Given the description of an element on the screen output the (x, y) to click on. 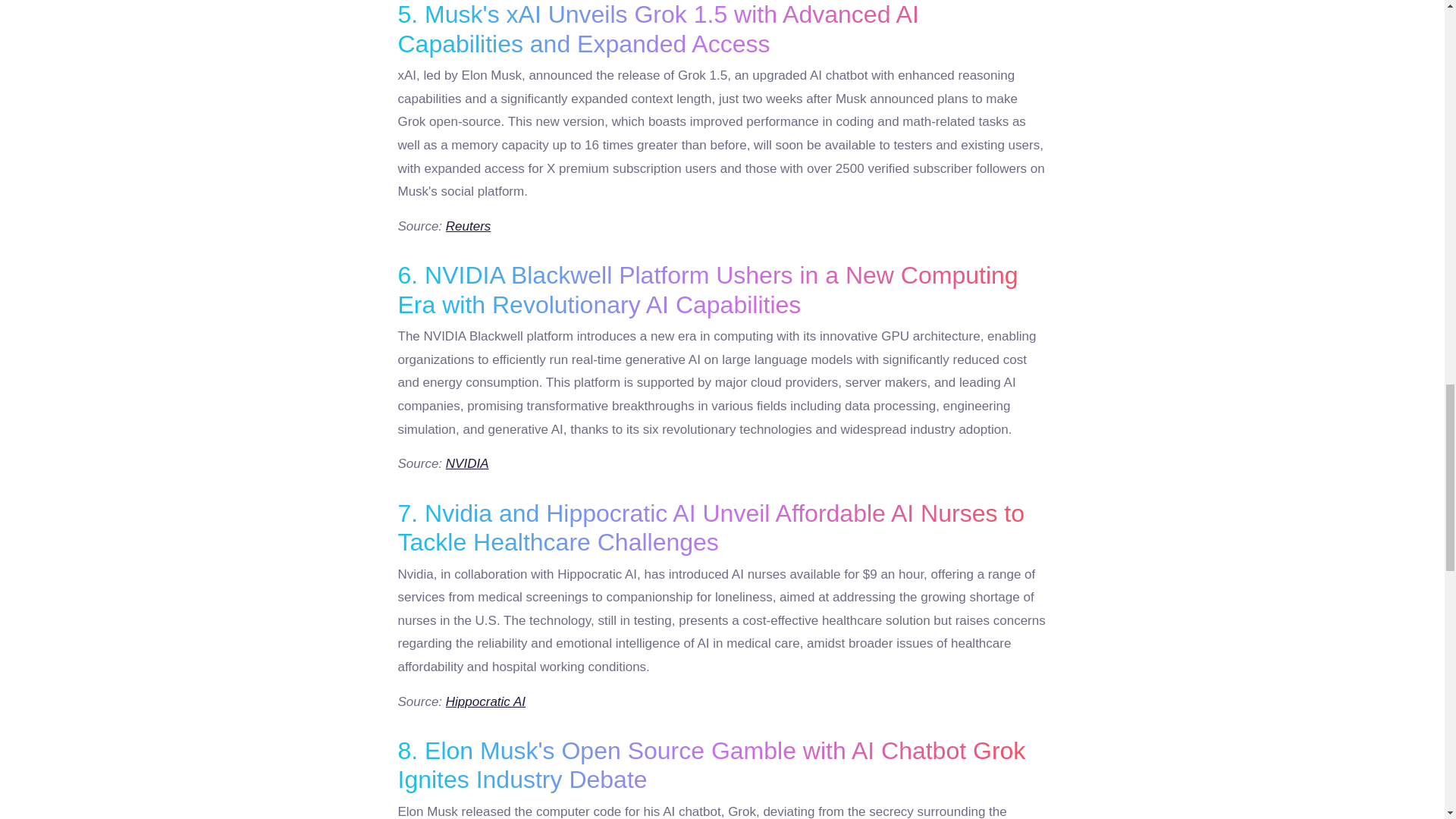
NVIDIA (467, 463)
Hippocratic AI (485, 701)
Reuters (468, 226)
